Given the description of an element on the screen output the (x, y) to click on. 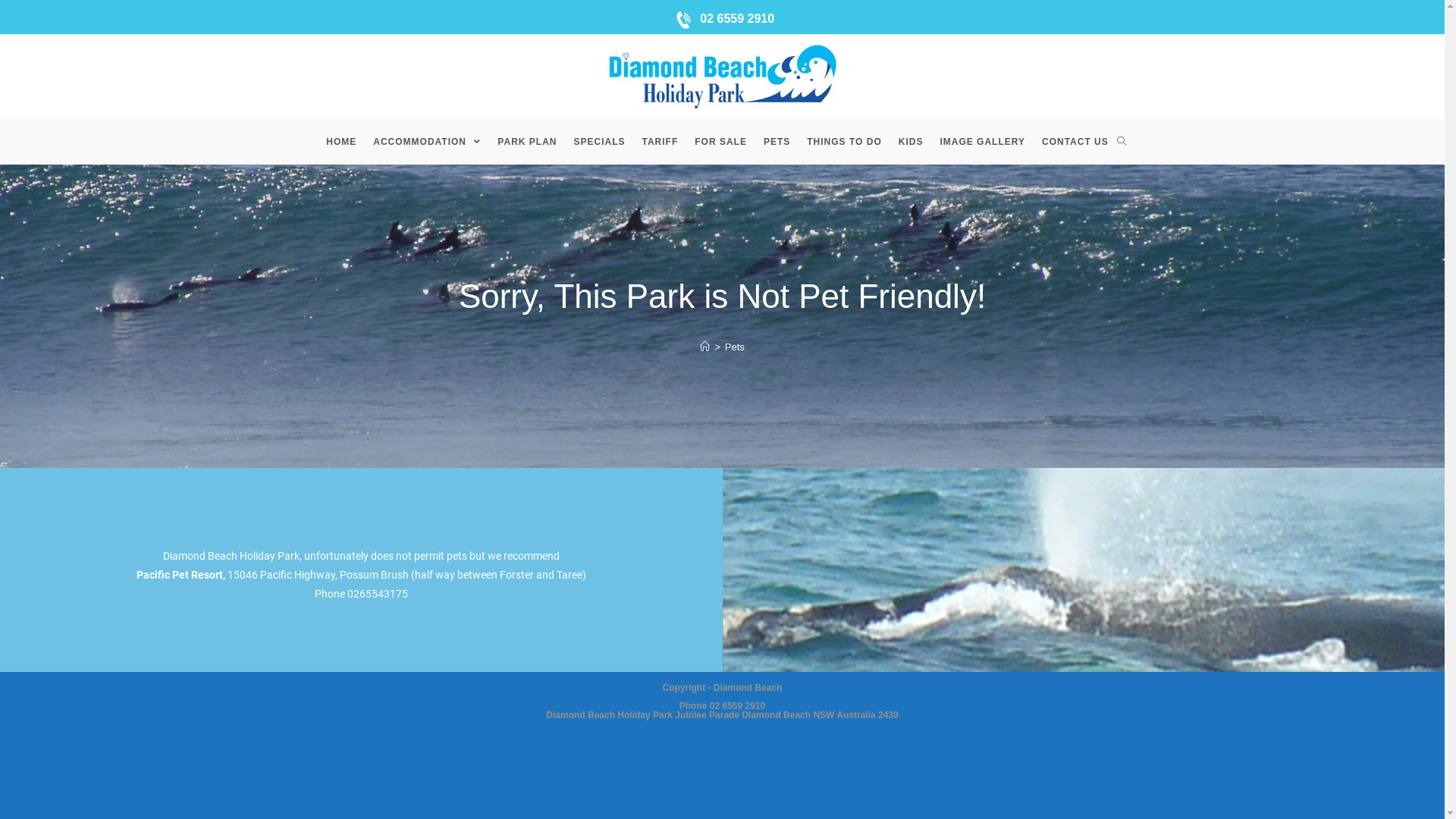
PETS Element type: text (776, 141)
Pets Element type: text (734, 346)
HOME Element type: text (340, 141)
ACCOMMODATION Element type: text (426, 141)
CONTACT US Element type: text (1075, 141)
IMAGE GALLERY Element type: text (982, 141)
THINGS TO DO Element type: text (843, 141)
SPECIALS Element type: text (598, 141)
KIDS Element type: text (910, 141)
PARK PLAN Element type: text (526, 141)
FOR SALE Element type: text (720, 141)
TARIFF Element type: text (660, 141)
